Given the description of an element on the screen output the (x, y) to click on. 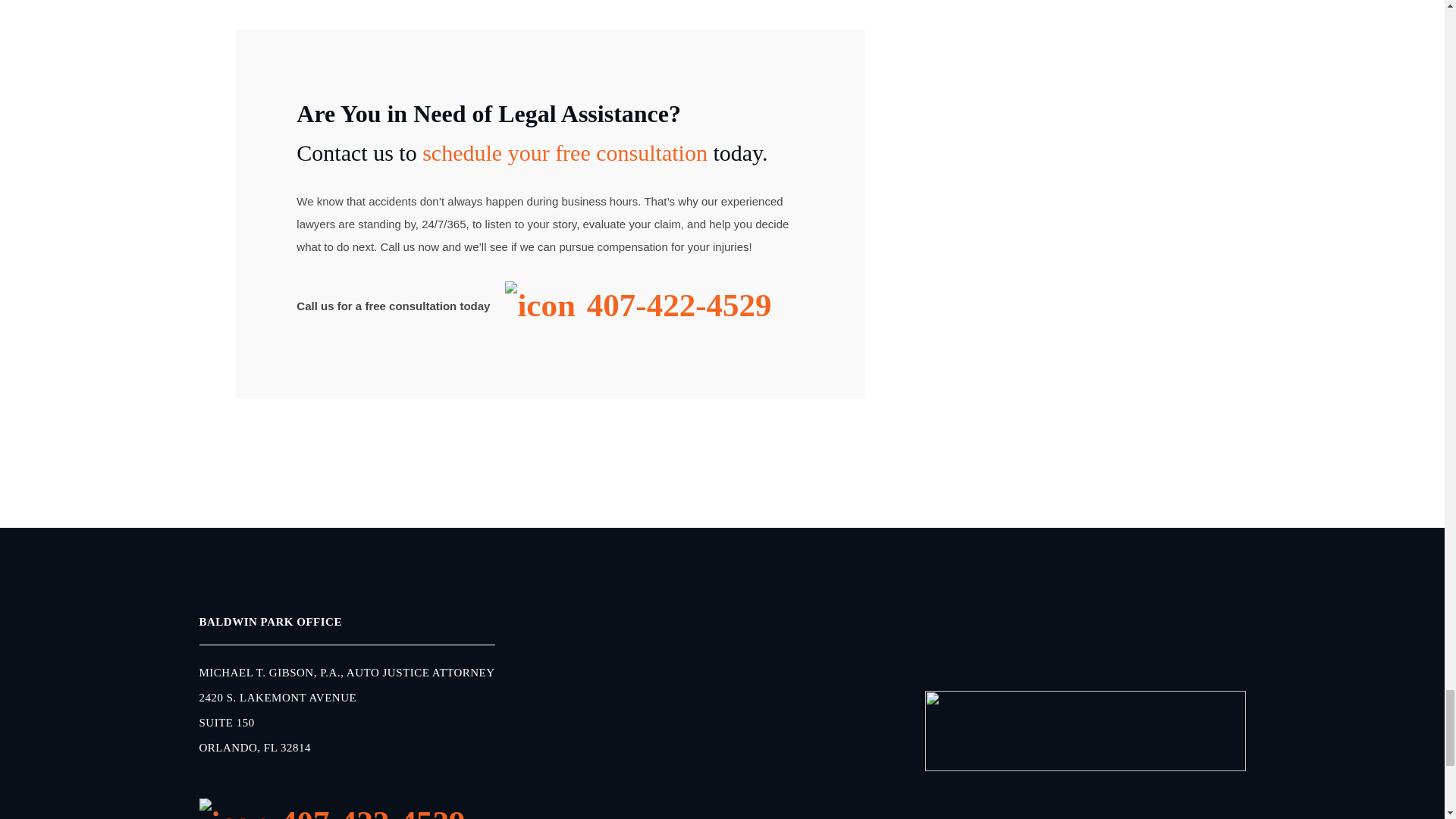
Call Now (638, 305)
Call Now (346, 808)
View Map (346, 688)
Michael T. Gibson P.A., Auto Justice Attorney (1085, 729)
